Given the description of an element on the screen output the (x, y) to click on. 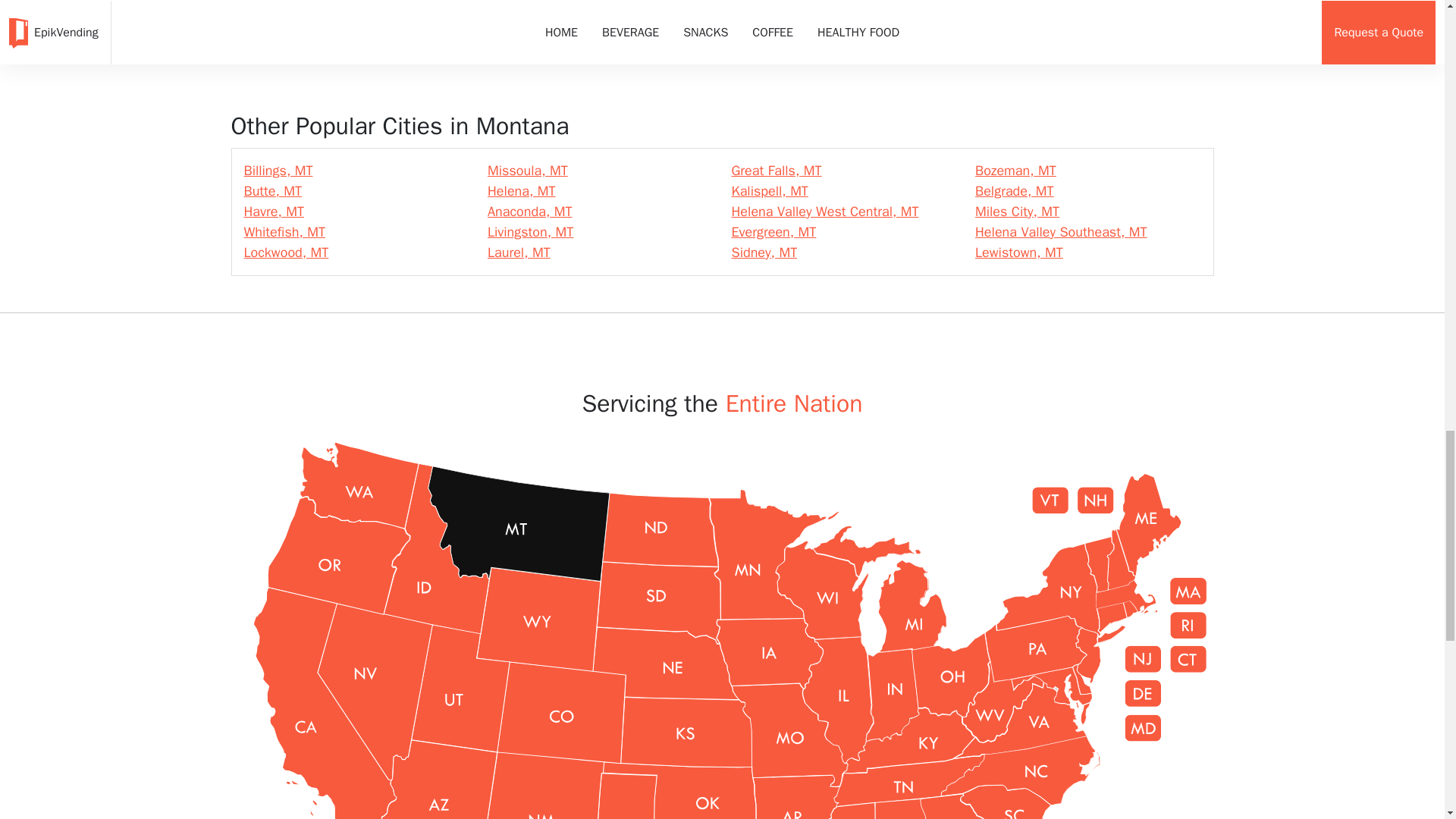
Butte, MT (273, 190)
Whitefish, MT (285, 231)
Bozeman, MT (1016, 170)
Livingston, MT (530, 231)
Helena, MT (521, 190)
Belgrade, MT (1014, 190)
Missoula, MT (527, 170)
Billings, MT (278, 170)
Great Falls, MT (775, 170)
Helena Valley West Central, MT (824, 211)
Miles City, MT (1017, 211)
Kalispell, MT (769, 190)
Anaconda, MT (529, 211)
Havre, MT (274, 211)
